Given the description of an element on the screen output the (x, y) to click on. 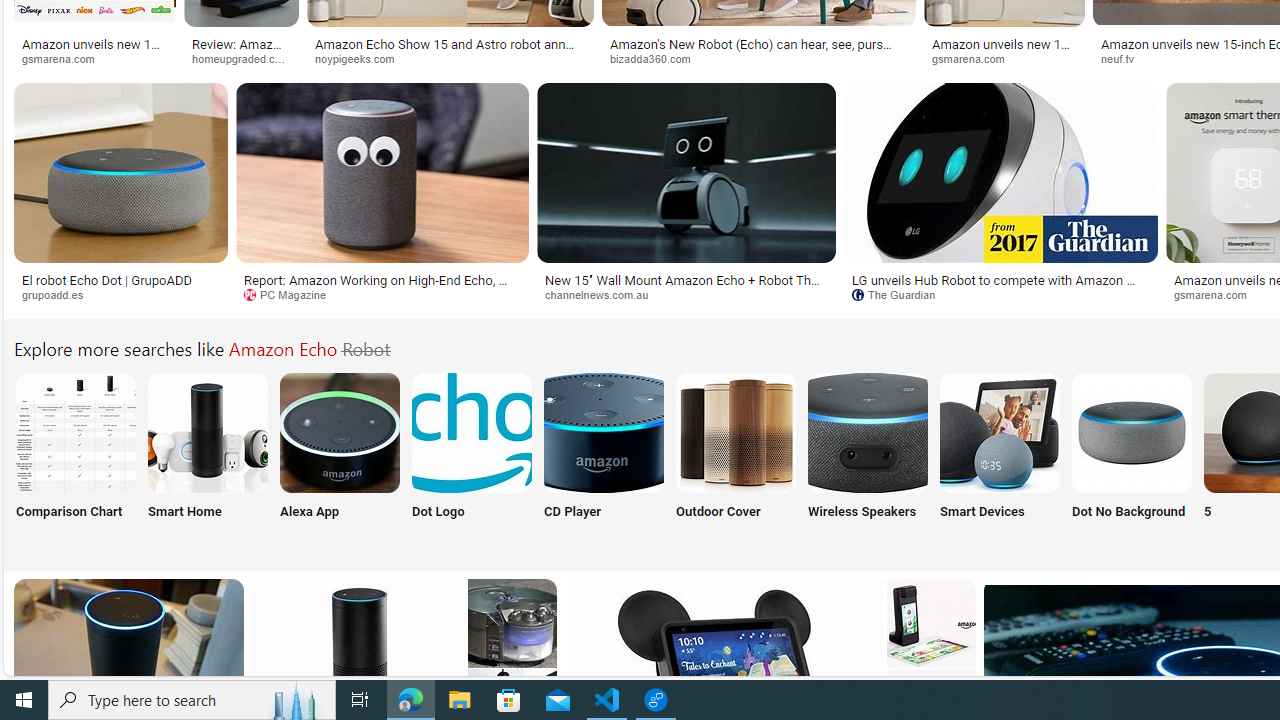
Smart Devices (999, 457)
Amazon Echo Dot Logo Dot Logo (472, 458)
gsmarena.com (1003, 58)
grupoadd.es (59, 294)
CD Player (604, 457)
Amazon Echo Dot Logo (472, 432)
gsmarena.com (1216, 294)
El robot Echo Dot | GrupoADD (120, 279)
